Given the description of an element on the screen output the (x, y) to click on. 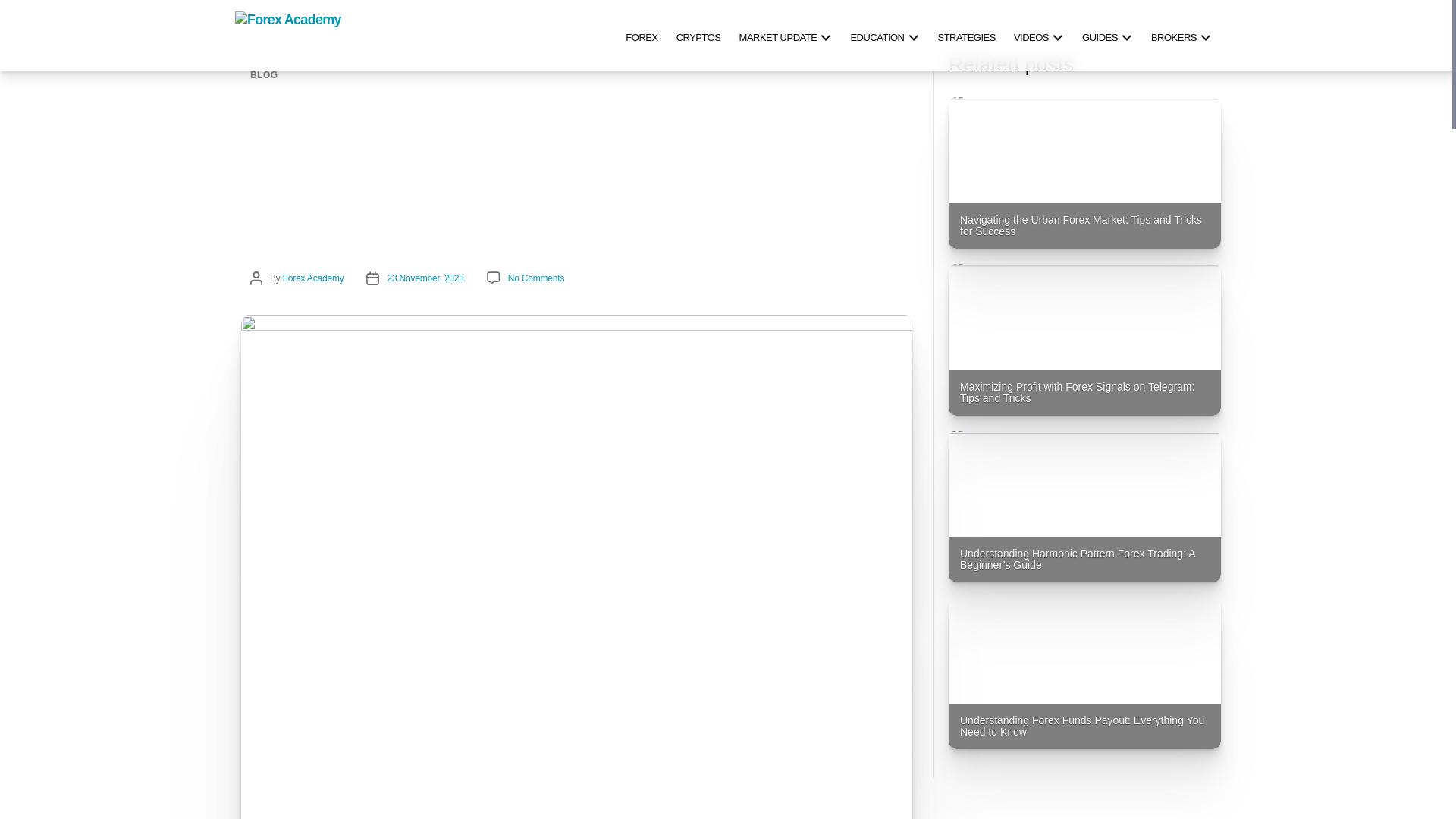
EDUCATION (884, 35)
MARKET UPDATE (785, 35)
CRYPTOS (698, 35)
VIDEOS (1038, 35)
BROKERS (1181, 35)
GUIDES (1107, 35)
STRATEGIES (966, 35)
